Given the description of an element on the screen output the (x, y) to click on. 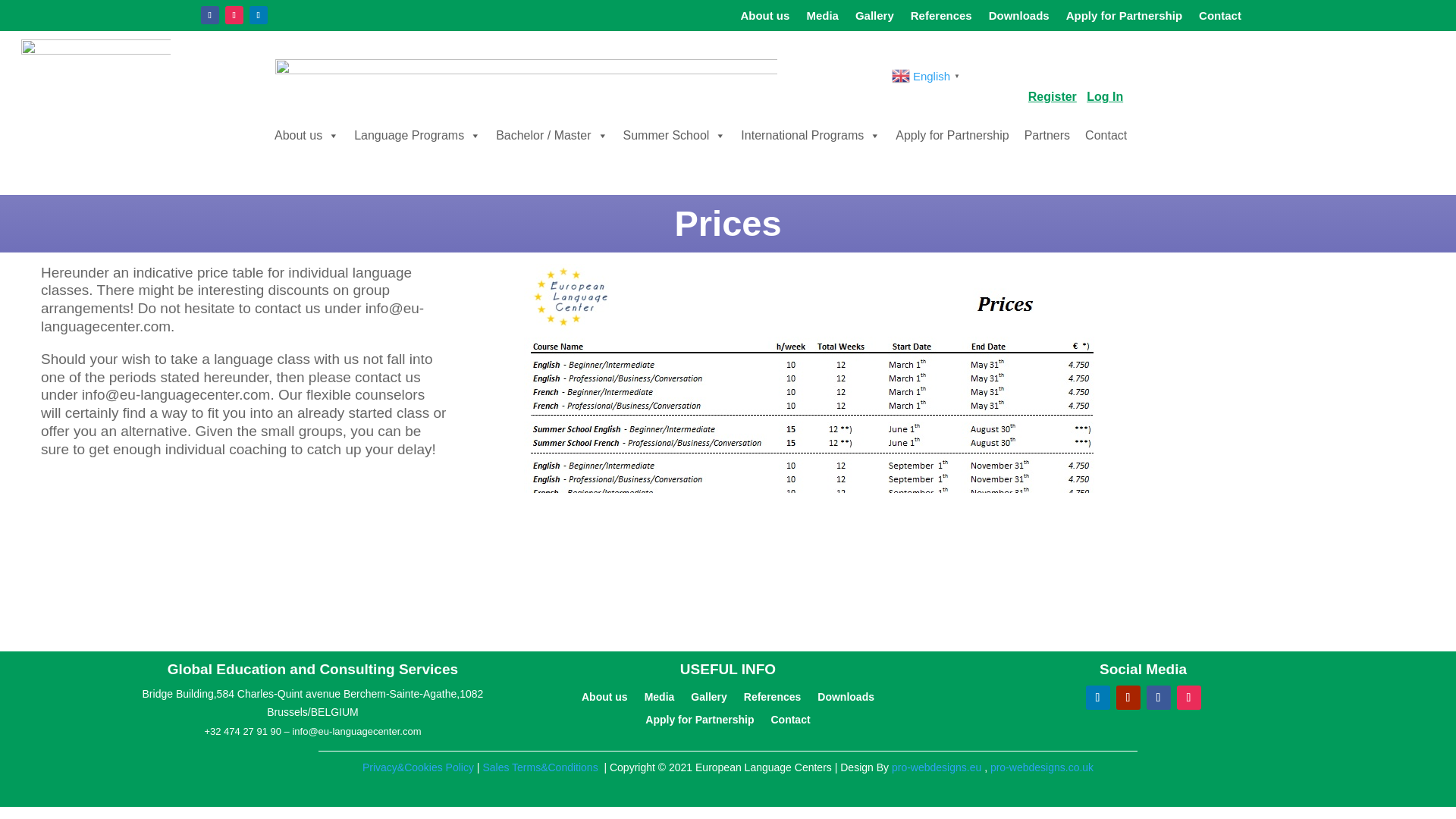
Register (1052, 96)
Downloads (1018, 18)
Language Programs (416, 135)
Instagram izleyin (234, 14)
LinkedIn izleyin (257, 14)
Media (822, 18)
References (941, 18)
Log In (1104, 96)
Gallery (874, 18)
